Given the description of an element on the screen output the (x, y) to click on. 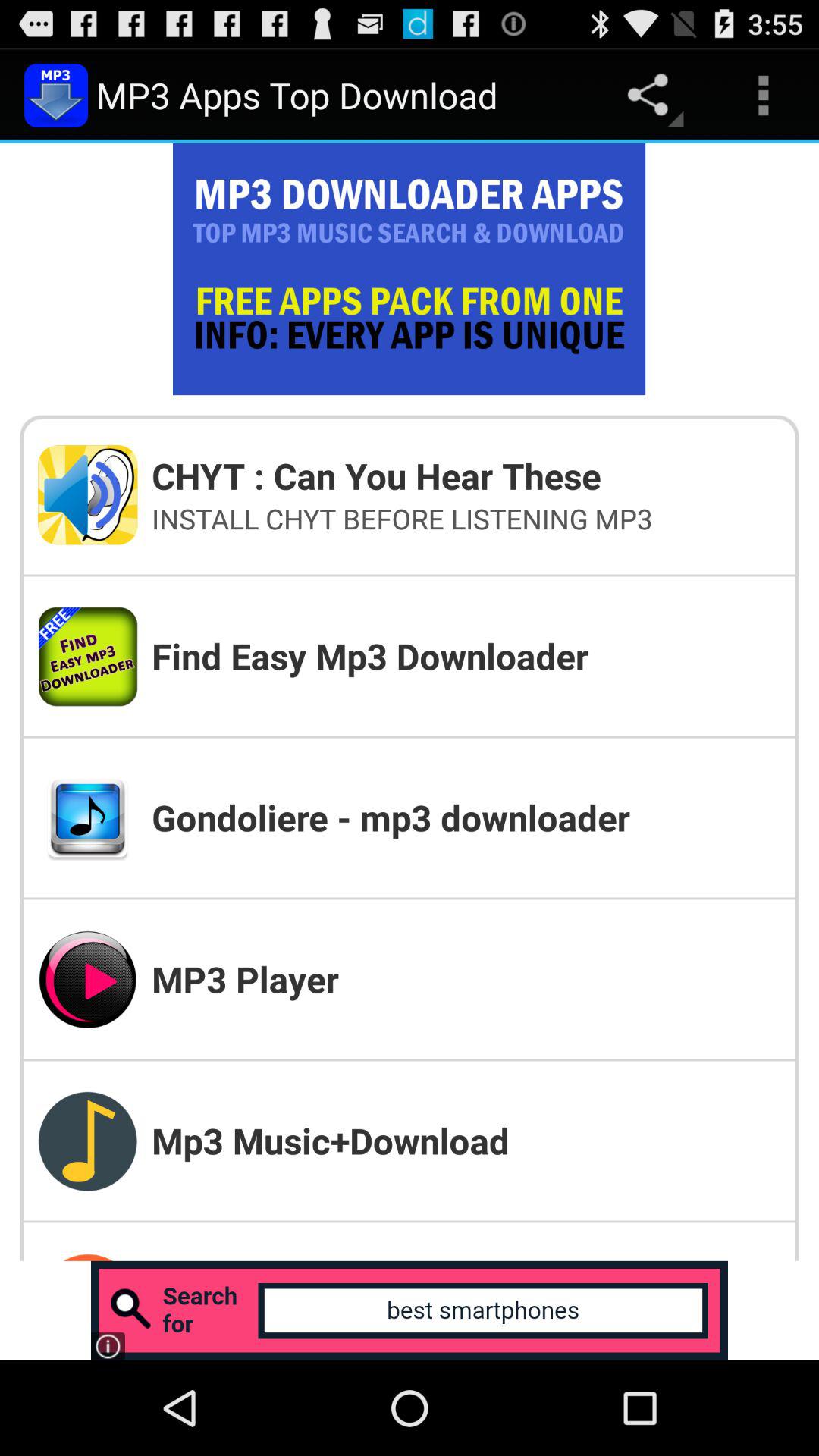
click the item above chyt can you app (763, 95)
